Given the description of an element on the screen output the (x, y) to click on. 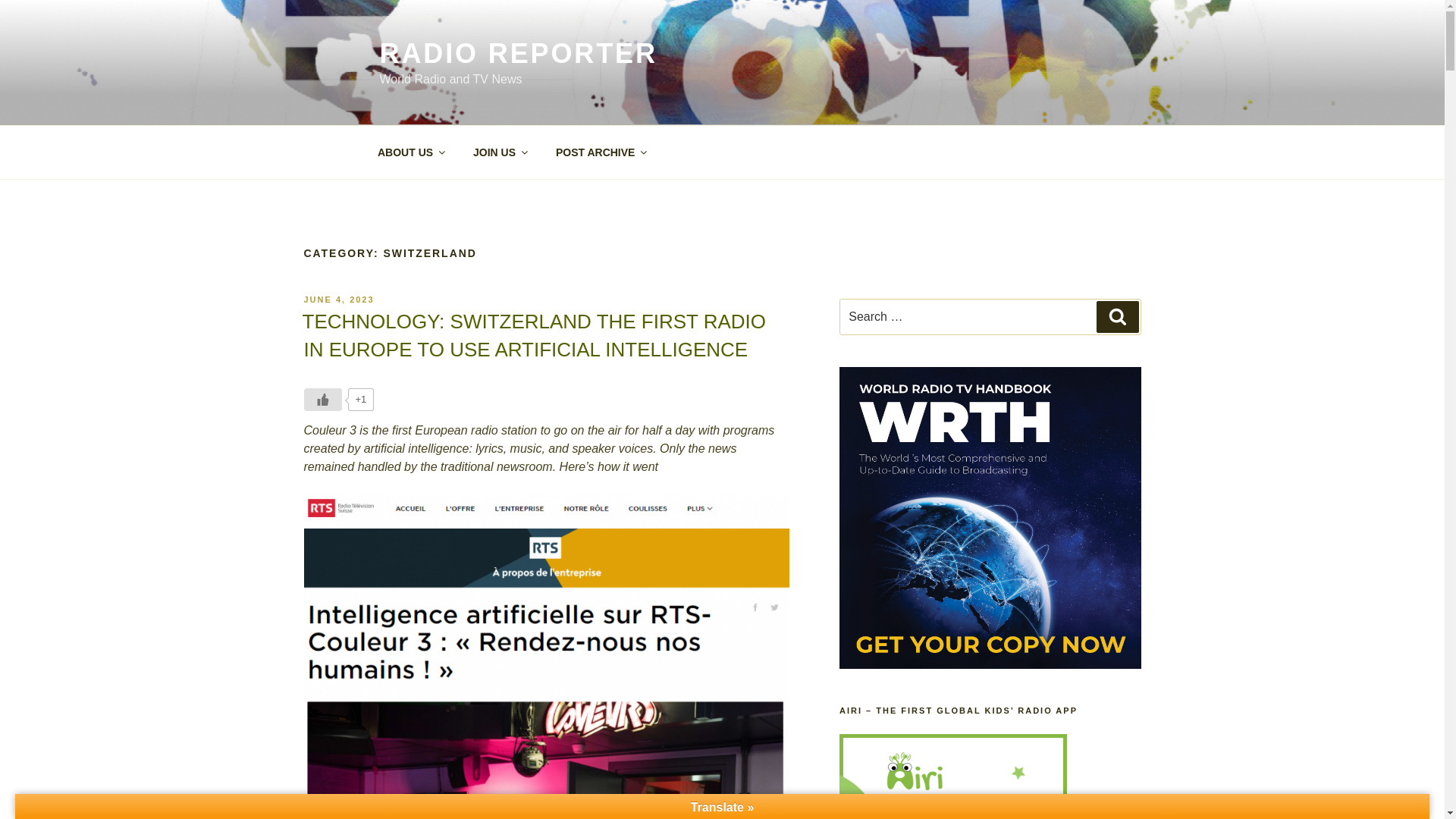
POST ARCHIVE (600, 151)
JOIN US (500, 151)
RADIO REPORTER (517, 52)
JUNE 4, 2023 (338, 298)
ABOUT US (410, 151)
